Given the description of an element on the screen output the (x, y) to click on. 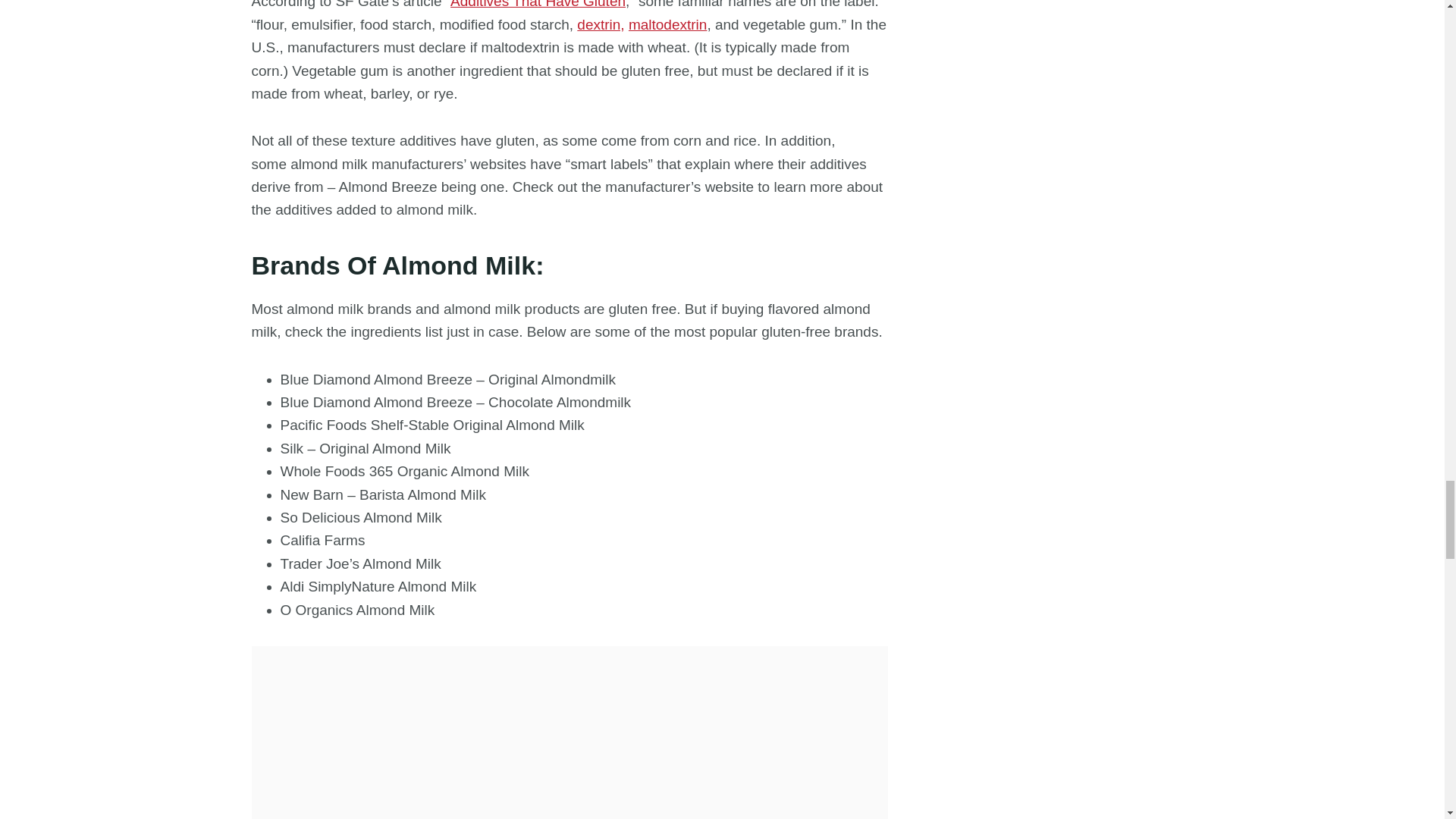
dextrin, (600, 24)
Additives That Have Gluten (537, 4)
maltodextrin (667, 24)
